Given the description of an element on the screen output the (x, y) to click on. 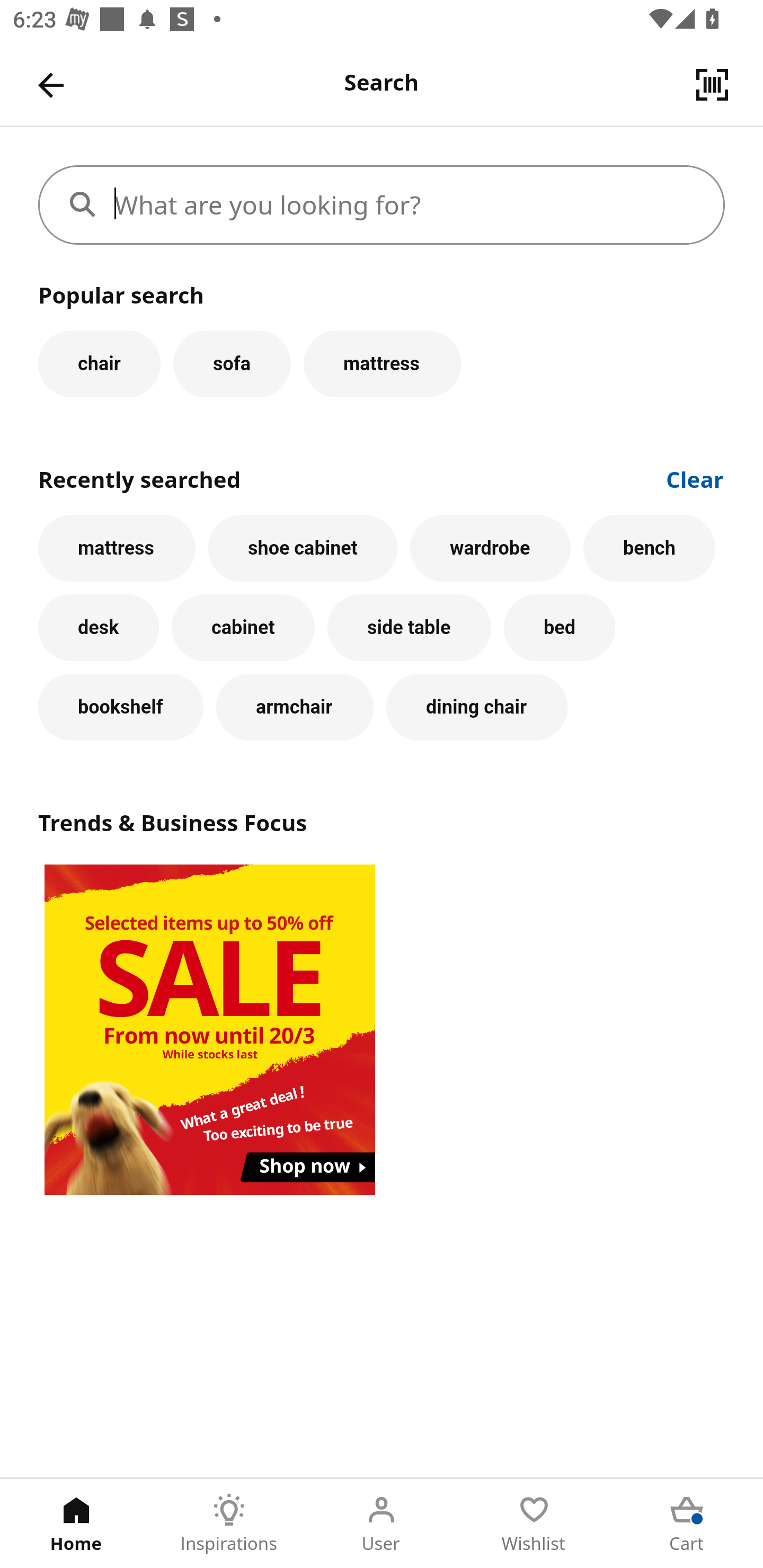
chair (99, 363)
sofa (231, 363)
mattress (381, 363)
Clear (695, 477)
mattress (116, 547)
shoe cabinet (302, 547)
wardrobe (490, 547)
bench (649, 547)
desk (98, 627)
cabinet (242, 627)
side table (409, 627)
bed (558, 627)
bookshelf (120, 707)
armchair (294, 707)
dining chair (476, 707)
Home
Tab 1 of 5 (76, 1522)
Inspirations
Tab 2 of 5 (228, 1522)
User
Tab 3 of 5 (381, 1522)
Wishlist
Tab 4 of 5 (533, 1522)
Cart
Tab 5 of 5 (686, 1522)
